Given the description of an element on the screen output the (x, y) to click on. 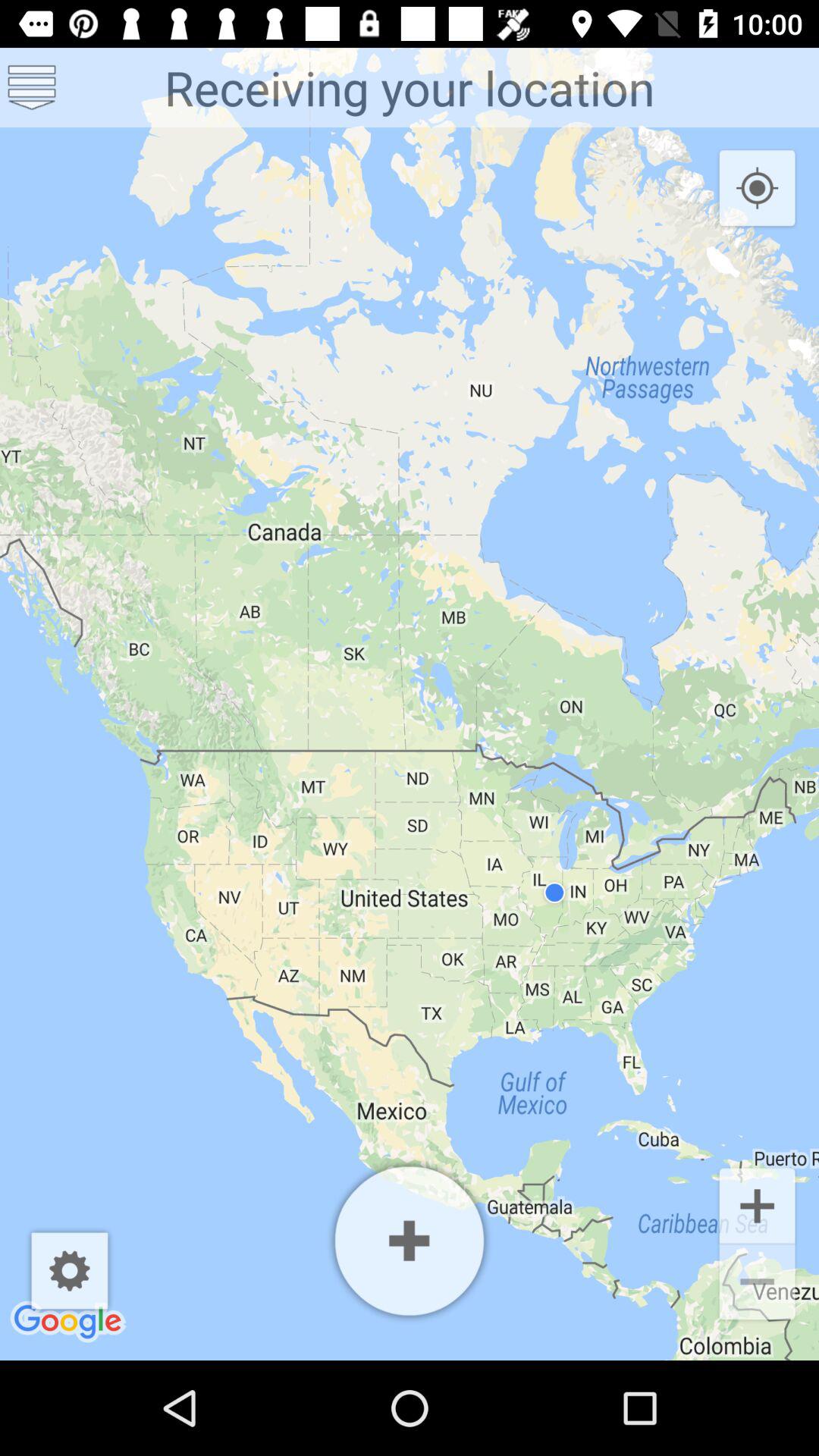
open menu (31, 87)
